Given the description of an element on the screen output the (x, y) to click on. 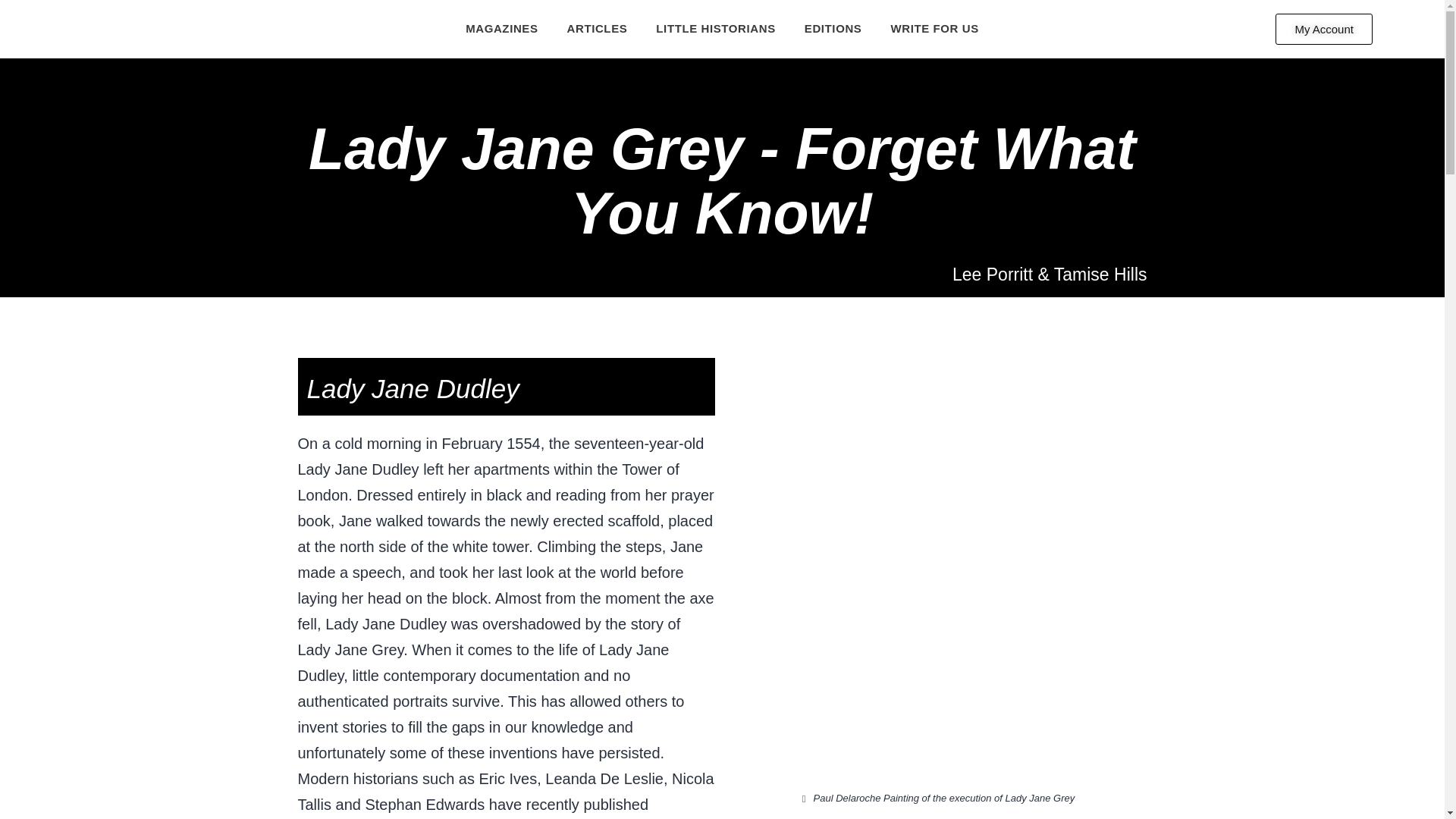
WRITE FOR US (934, 28)
ARTICLES (597, 28)
MAGAZINES (501, 28)
LITTLE HISTORIANS (715, 28)
EDITIONS (833, 28)
My Account (1324, 29)
